Given the description of an element on the screen output the (x, y) to click on. 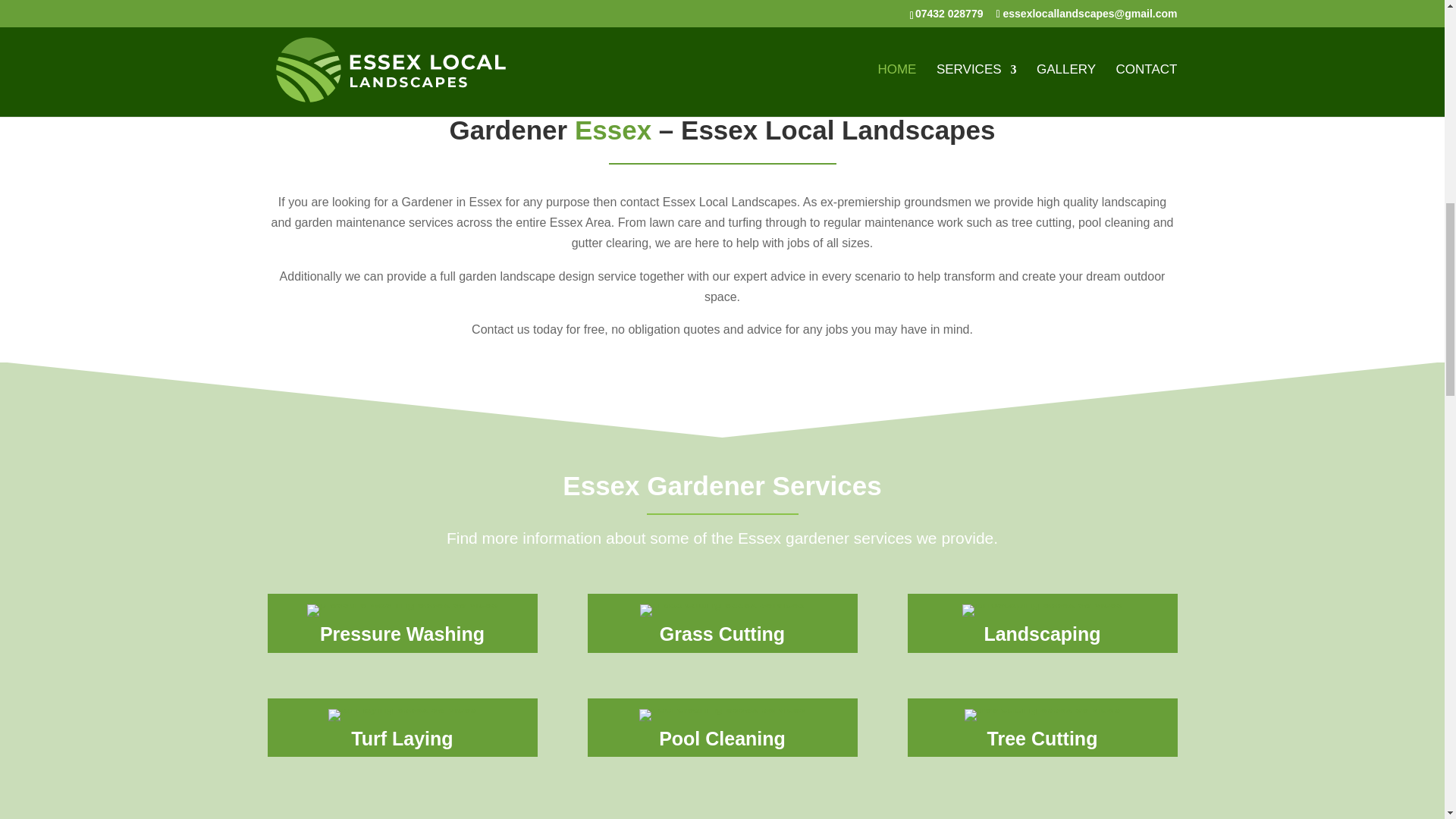
Pool Cleaning (722, 738)
Turf Laying (401, 738)
Submit (1356, 32)
Grass Cutting (721, 633)
Tree Cutting (1042, 738)
Pressure Washing (402, 633)
Landscaping (1042, 633)
